Given the description of an element on the screen output the (x, y) to click on. 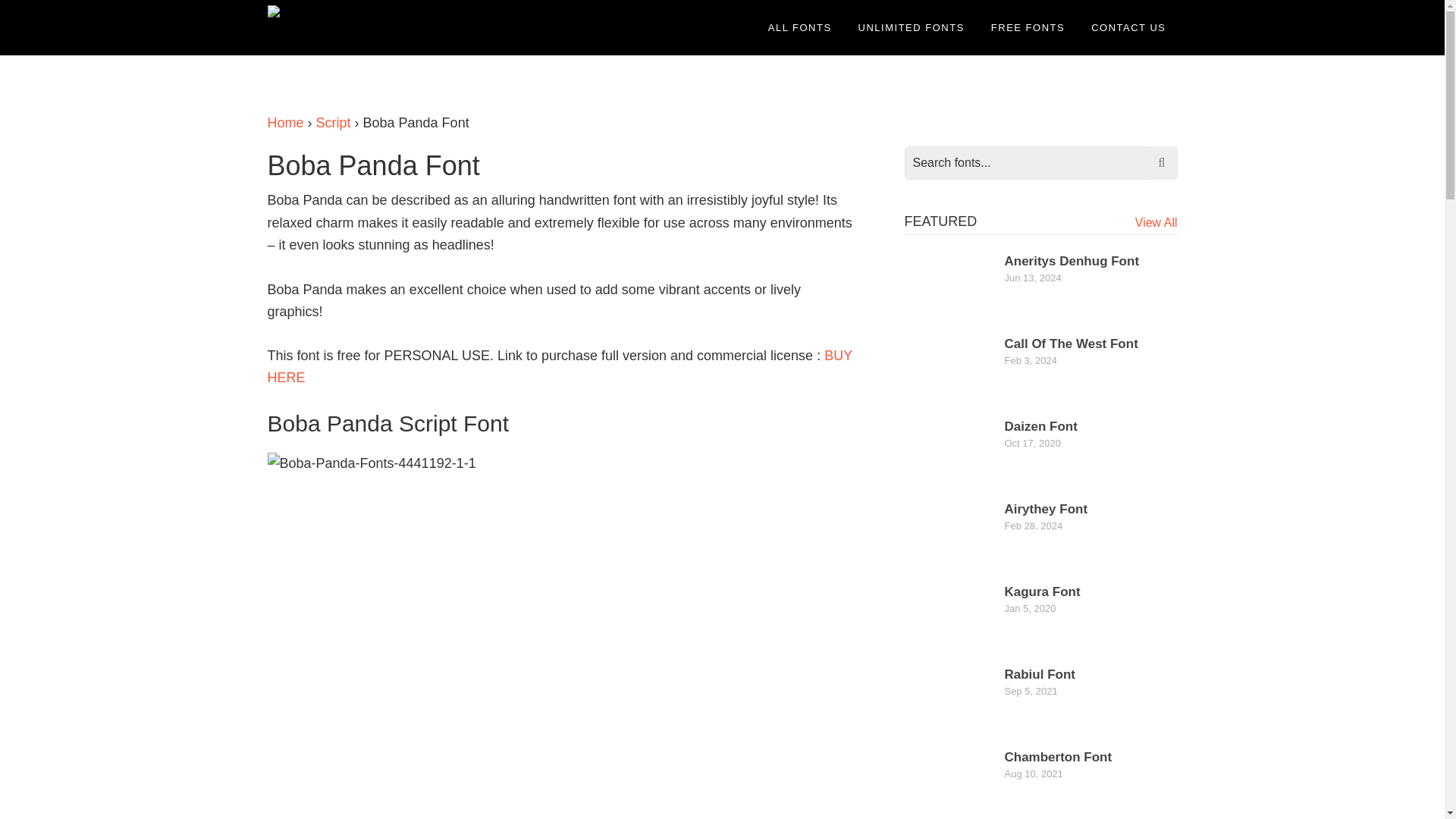
View All (1156, 222)
ALL FONTS (800, 27)
UNLIMITED FONTS (911, 27)
BUY HERE (558, 366)
CONTACT US (1128, 27)
Home (284, 122)
FREE FONTS (1027, 27)
Script (332, 122)
